Given the description of an element on the screen output the (x, y) to click on. 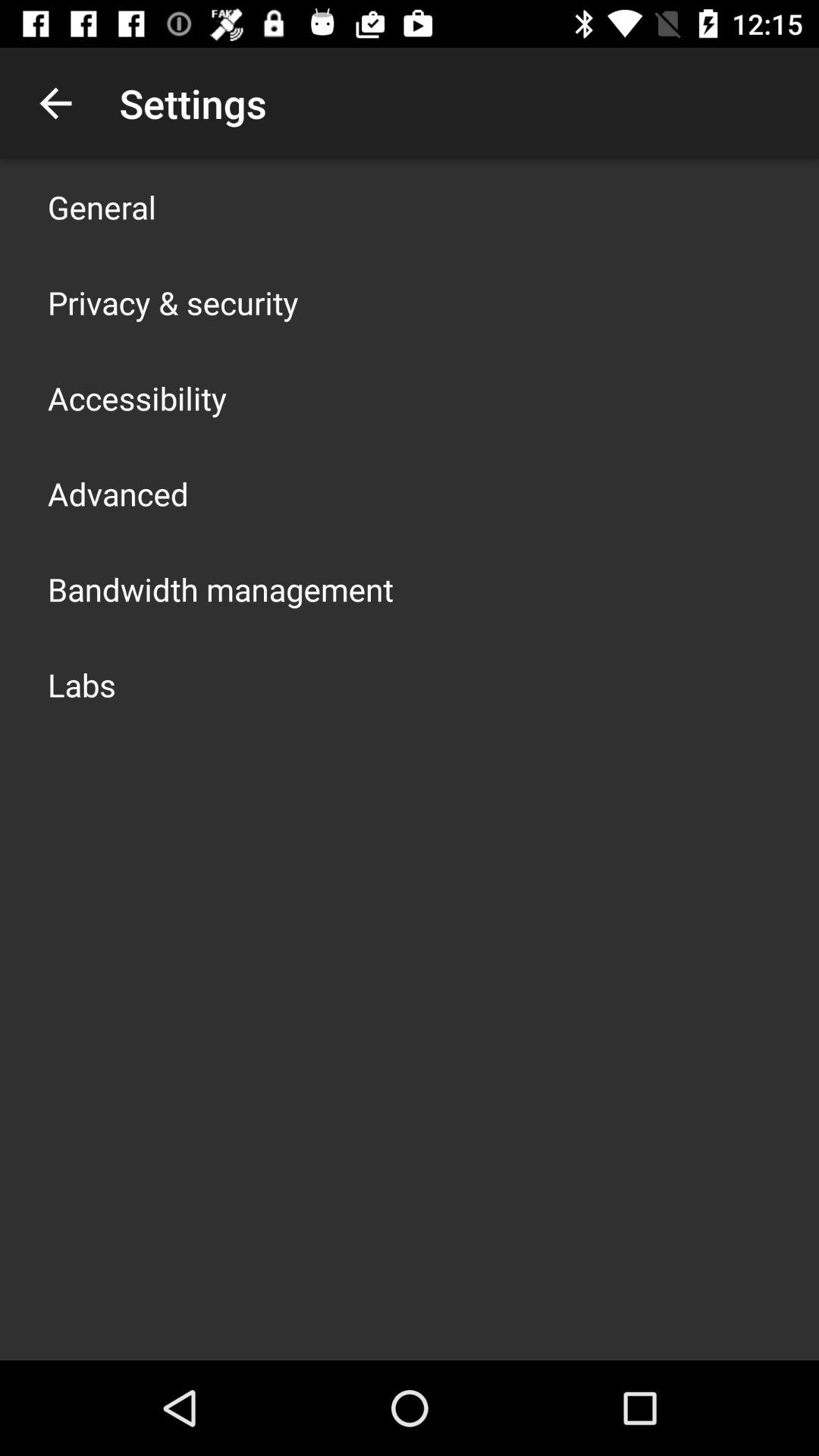
turn off app above privacy & security item (101, 206)
